Given the description of an element on the screen output the (x, y) to click on. 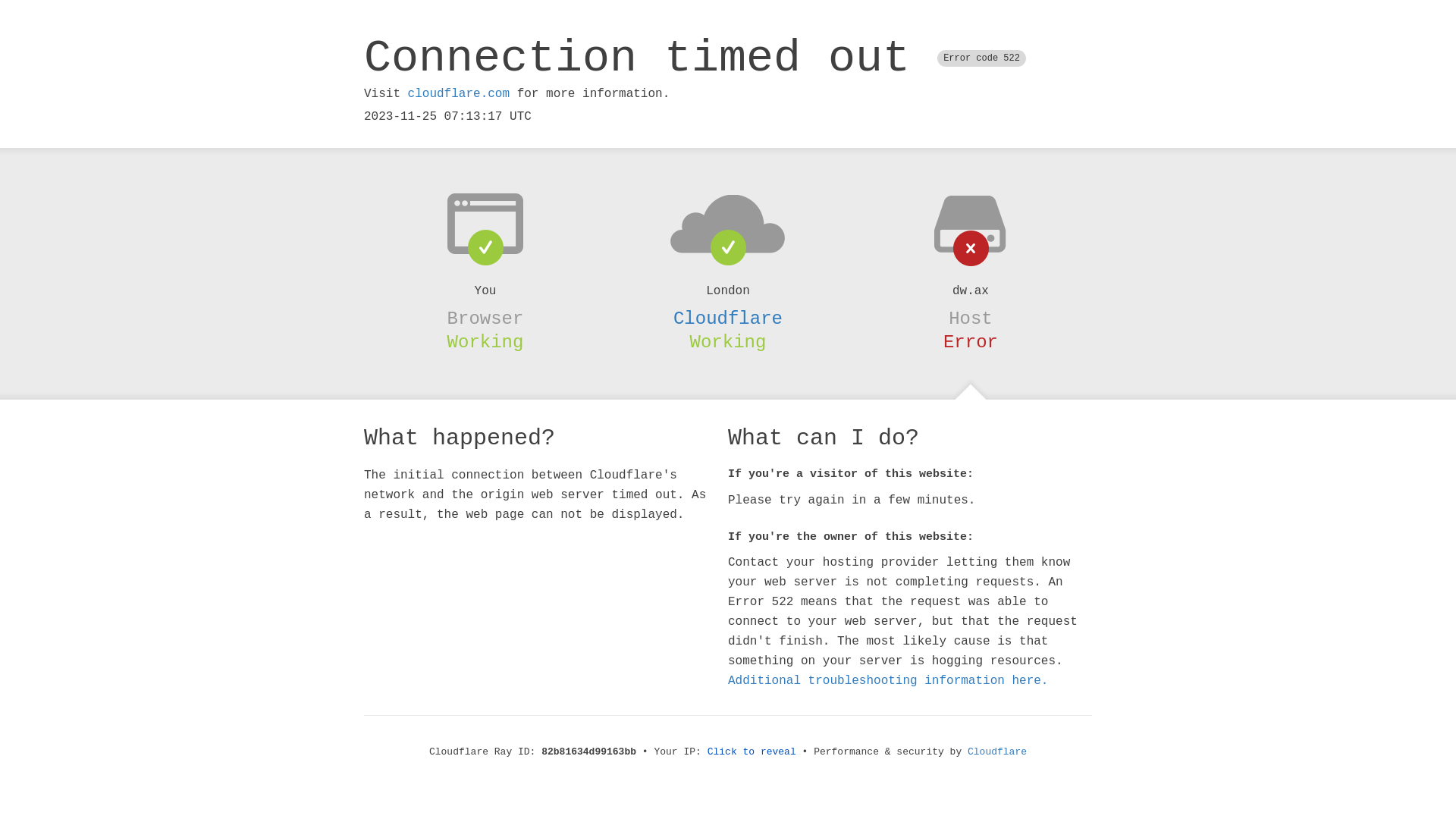
Additional troubleshooting information here. Element type: text (888, 680)
Cloudflare Element type: text (996, 751)
cloudflare.com Element type: text (458, 93)
Cloudflare Element type: text (727, 318)
Click to reveal Element type: text (751, 751)
